Given the description of an element on the screen output the (x, y) to click on. 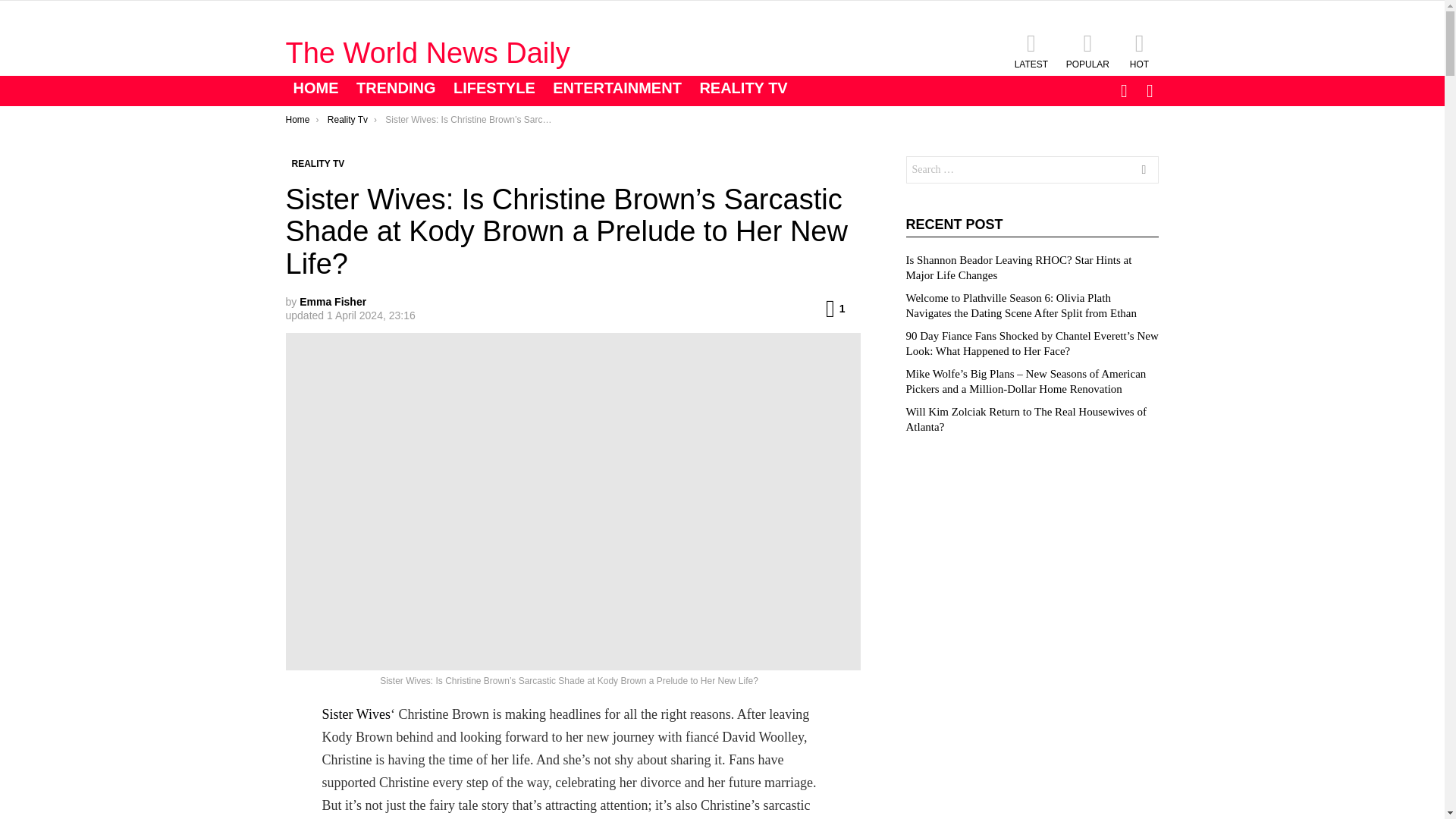
Home (296, 119)
The World News Daily (427, 52)
LIFESTYLE (494, 87)
Sister Wives (355, 713)
REALITY TV (317, 163)
Posts by Emma Fisher (332, 301)
HOT (1138, 50)
POPULAR (1087, 50)
Emma Fisher (332, 301)
ENTERTAINMENT (616, 87)
LATEST (1031, 50)
REALITY TV (742, 87)
Reality Tv (347, 119)
HOME (315, 87)
TRENDING (395, 87)
